Given the description of an element on the screen output the (x, y) to click on. 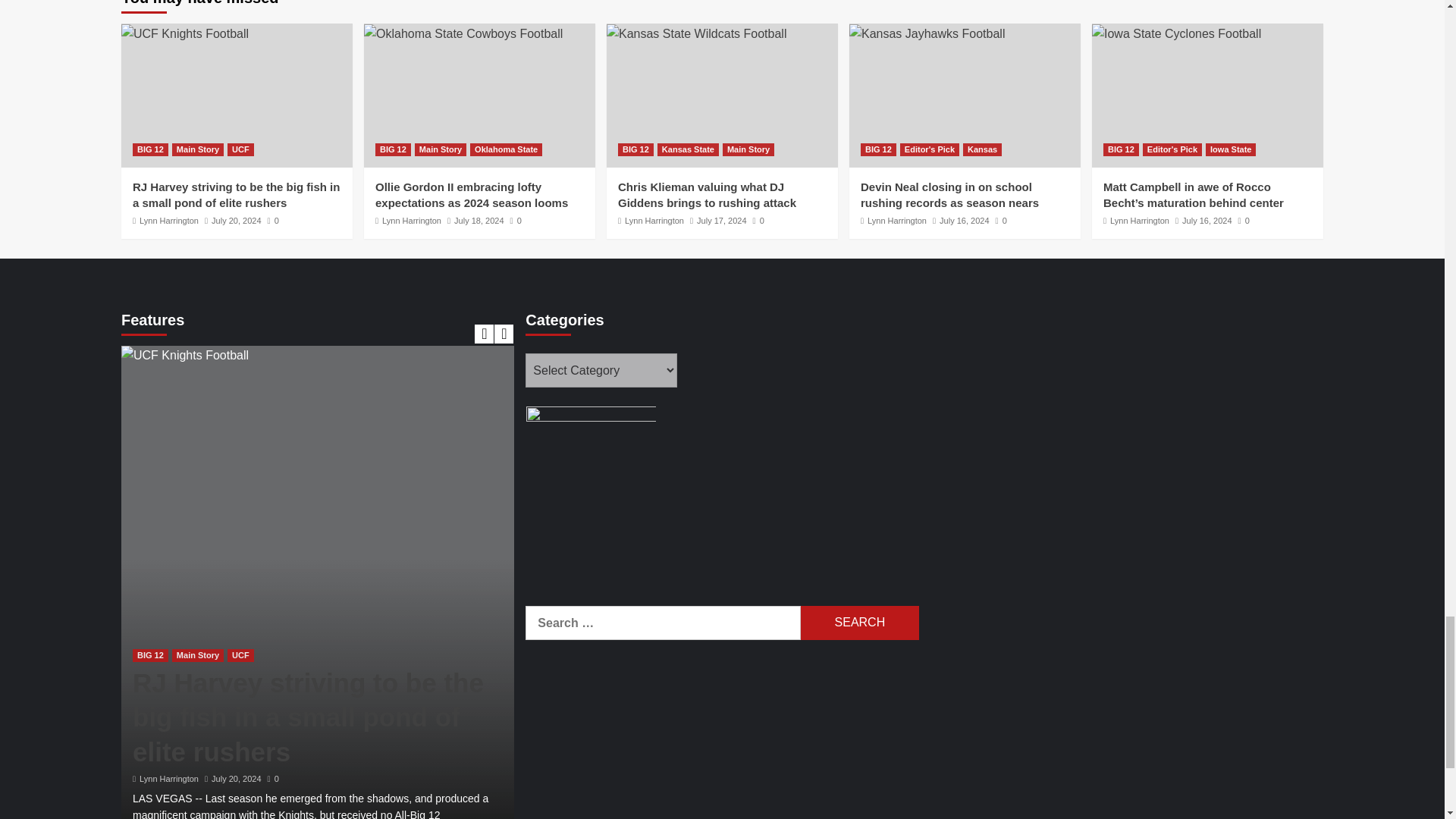
Search (859, 622)
Search (859, 622)
